Given the description of an element on the screen output the (x, y) to click on. 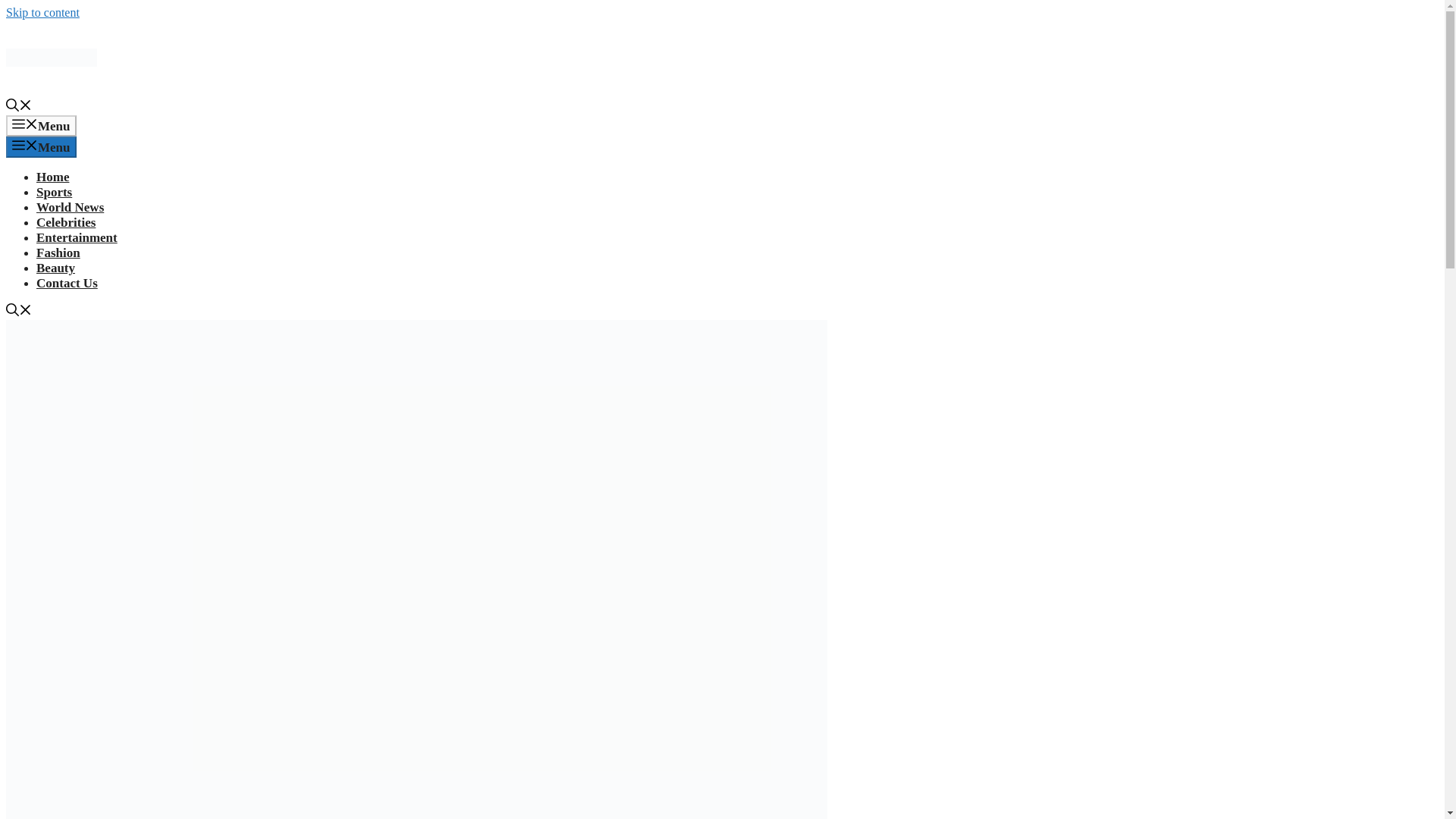
Celebrities (66, 222)
Home (52, 176)
Beauty (55, 268)
Fashion (58, 252)
Skip to content (42, 11)
Contact Us (66, 283)
World News (69, 206)
Menu (41, 125)
Sports (53, 192)
Skip to content (42, 11)
